Given the description of an element on the screen output the (x, y) to click on. 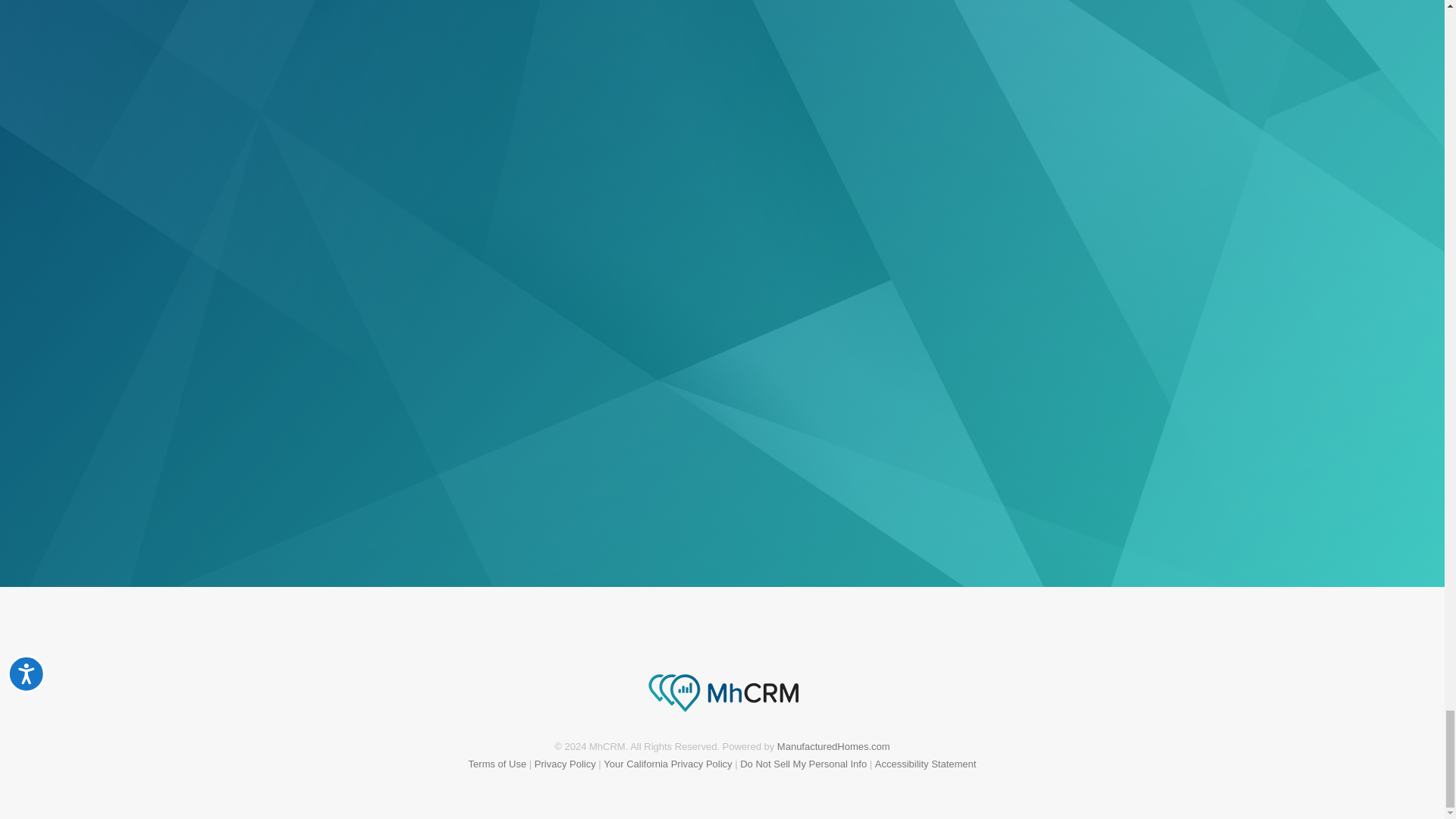
Your California Privacy Policy (668, 763)
ManufacturedHomes.com (833, 746)
Do Not Sell My Personal Info (802, 763)
Accessibility Statement (925, 763)
Privacy Policy (564, 763)
Terms of Use (497, 763)
